Given the description of an element on the screen output the (x, y) to click on. 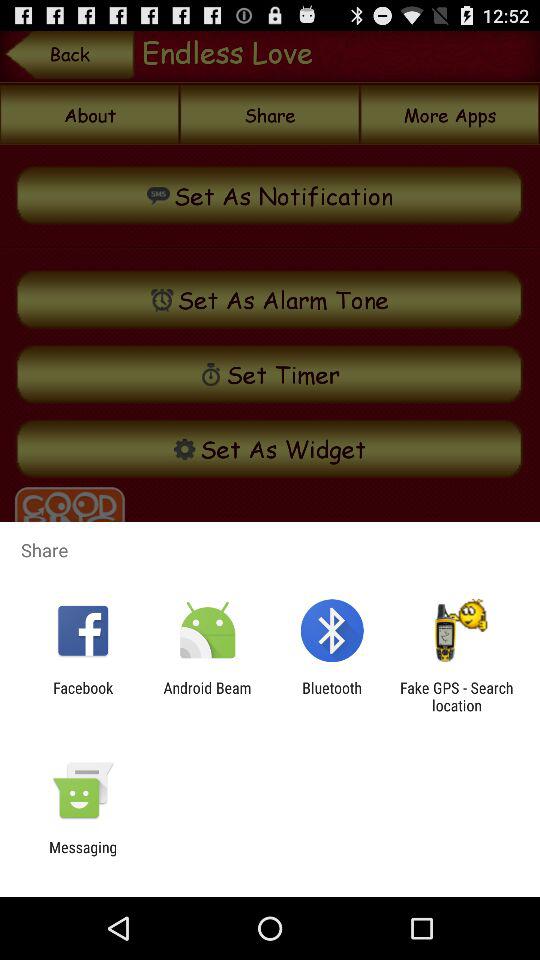
turn off icon next to the bluetooth app (207, 696)
